Given the description of an element on the screen output the (x, y) to click on. 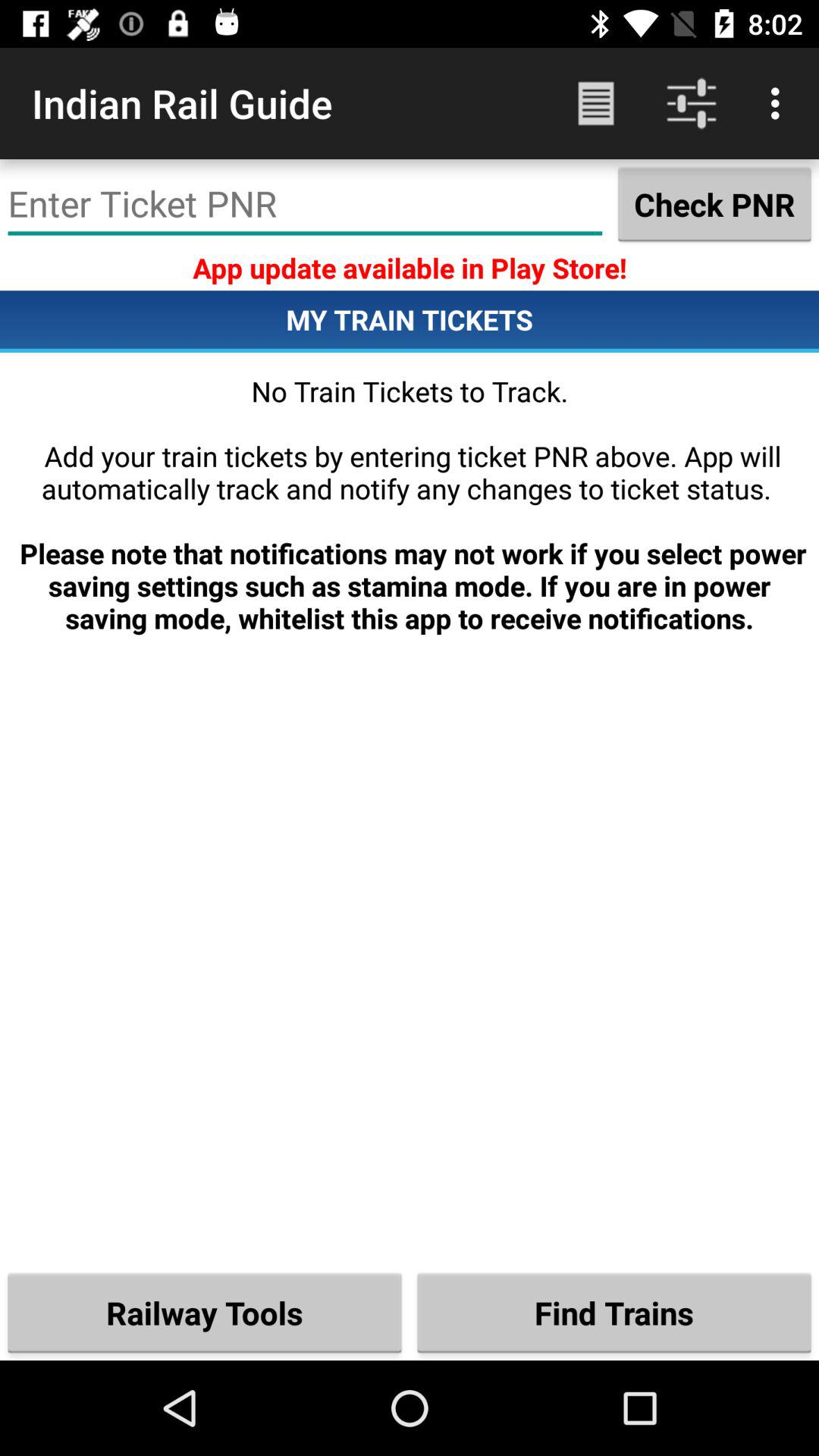
enter your pnr (305, 204)
